Given the description of an element on the screen output the (x, y) to click on. 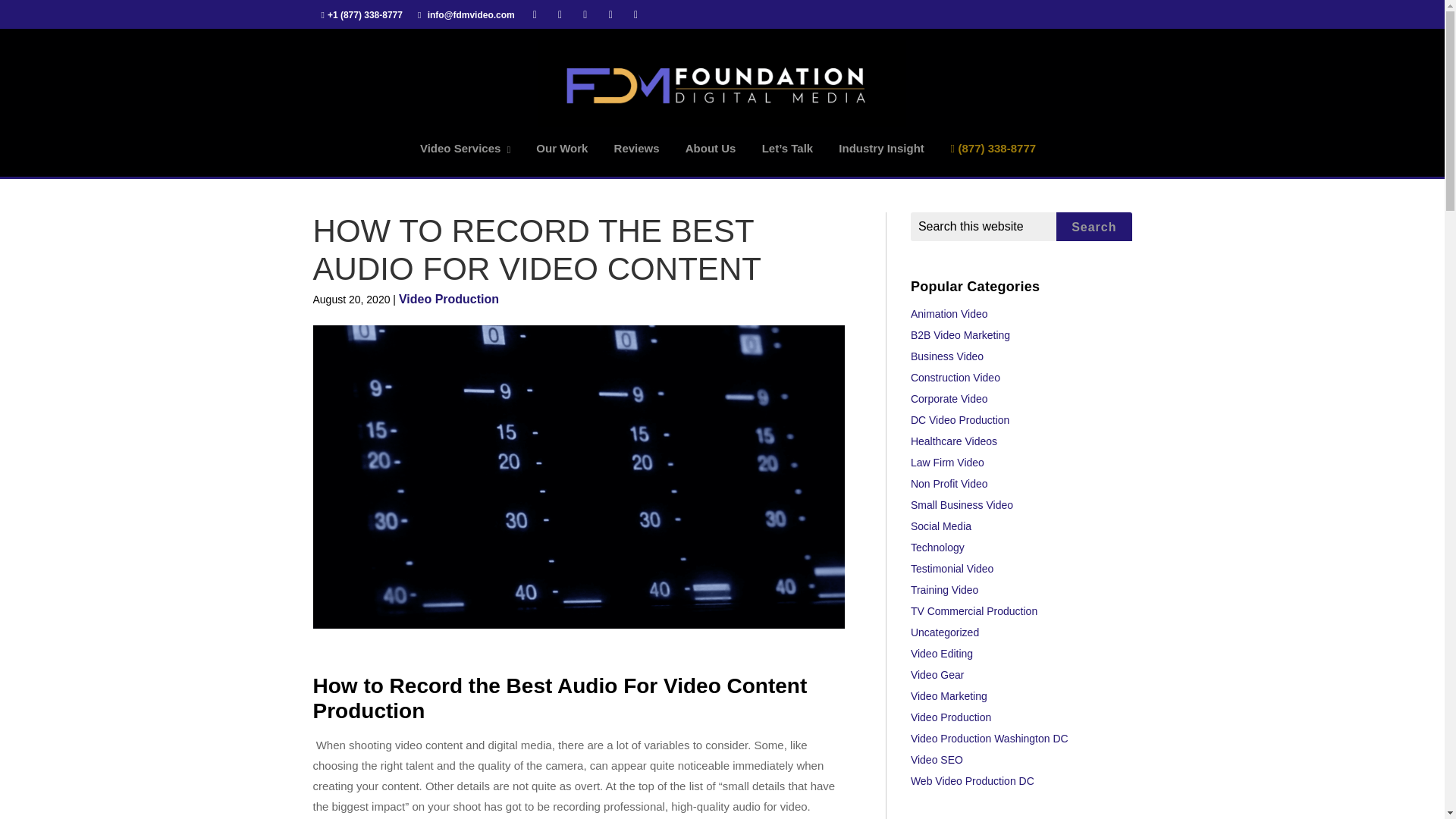
About Us (711, 149)
Video Production (448, 298)
Search (1094, 227)
Reviews (636, 149)
Industry Insight (881, 149)
Search (1094, 227)
Our Work (561, 149)
Video Services (465, 149)
